Given the description of an element on the screen output the (x, y) to click on. 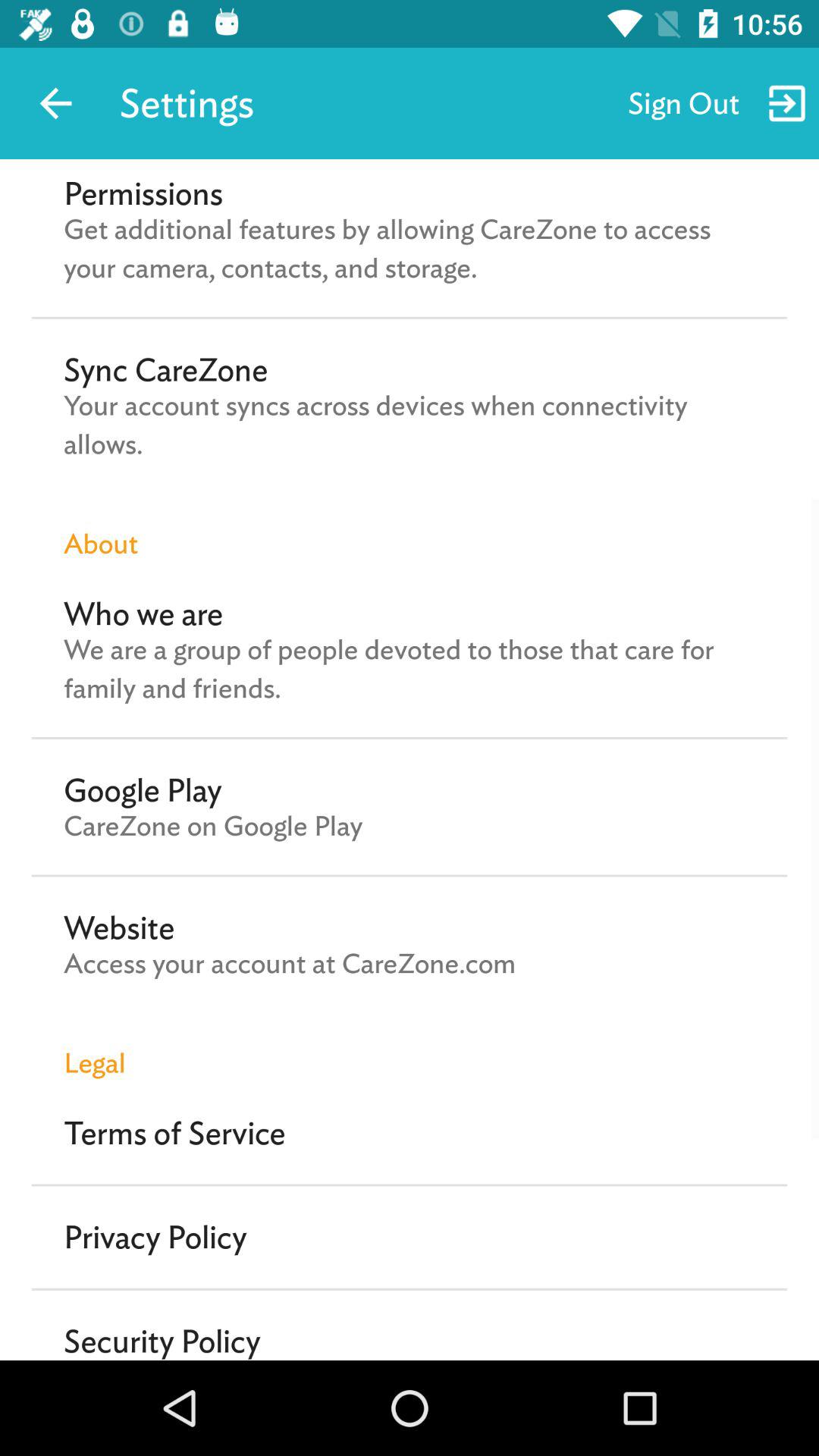
swipe to the carezone on google icon (212, 825)
